Given the description of an element on the screen output the (x, y) to click on. 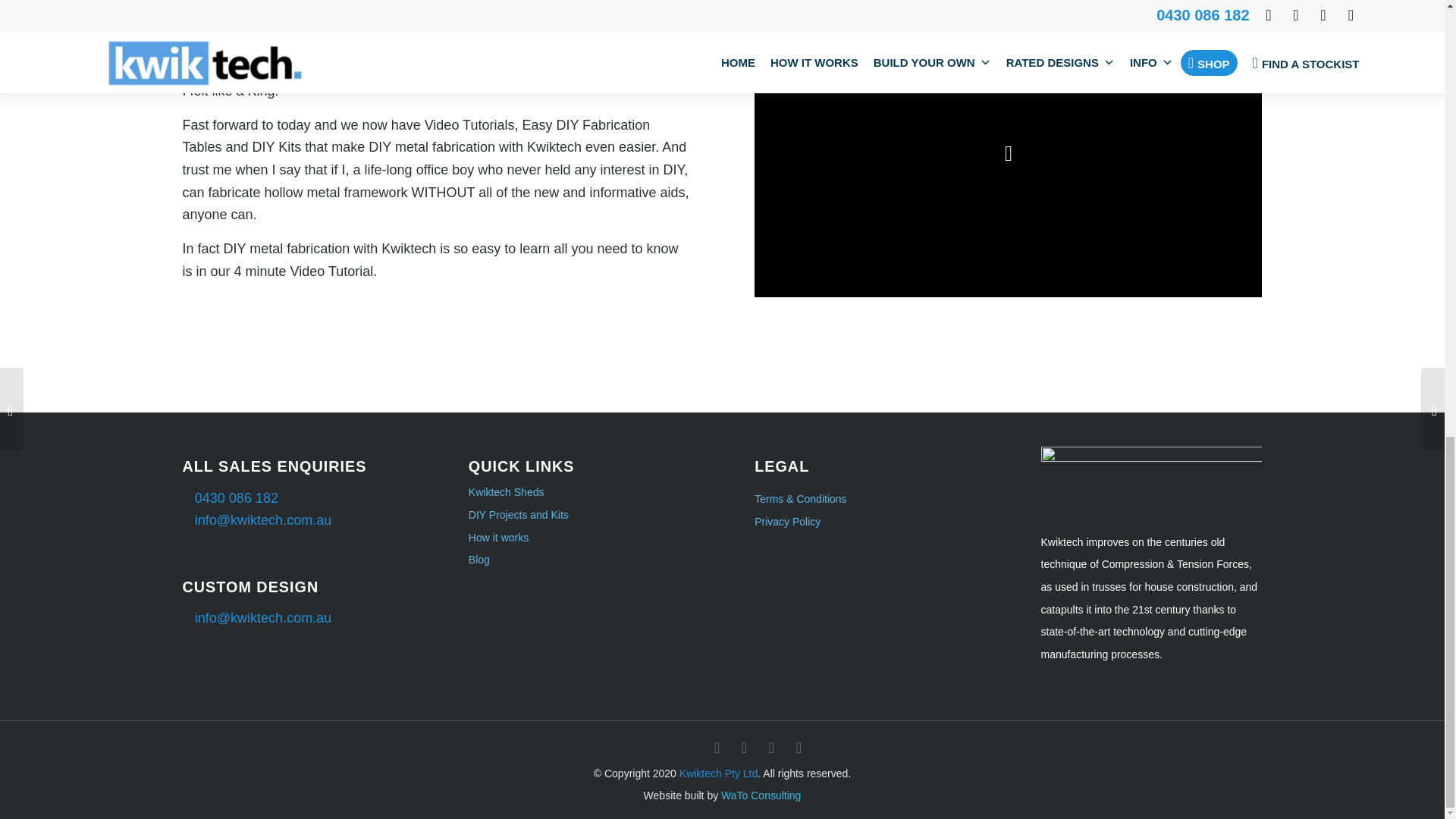
0430 086 182 (236, 498)
Kwiktech Sheds (579, 492)
WaTo Consulting (760, 795)
How it works (579, 538)
Blog (579, 559)
Privacy Policy (787, 521)
DIY Projects and Kits (579, 515)
